Given the description of an element on the screen output the (x, y) to click on. 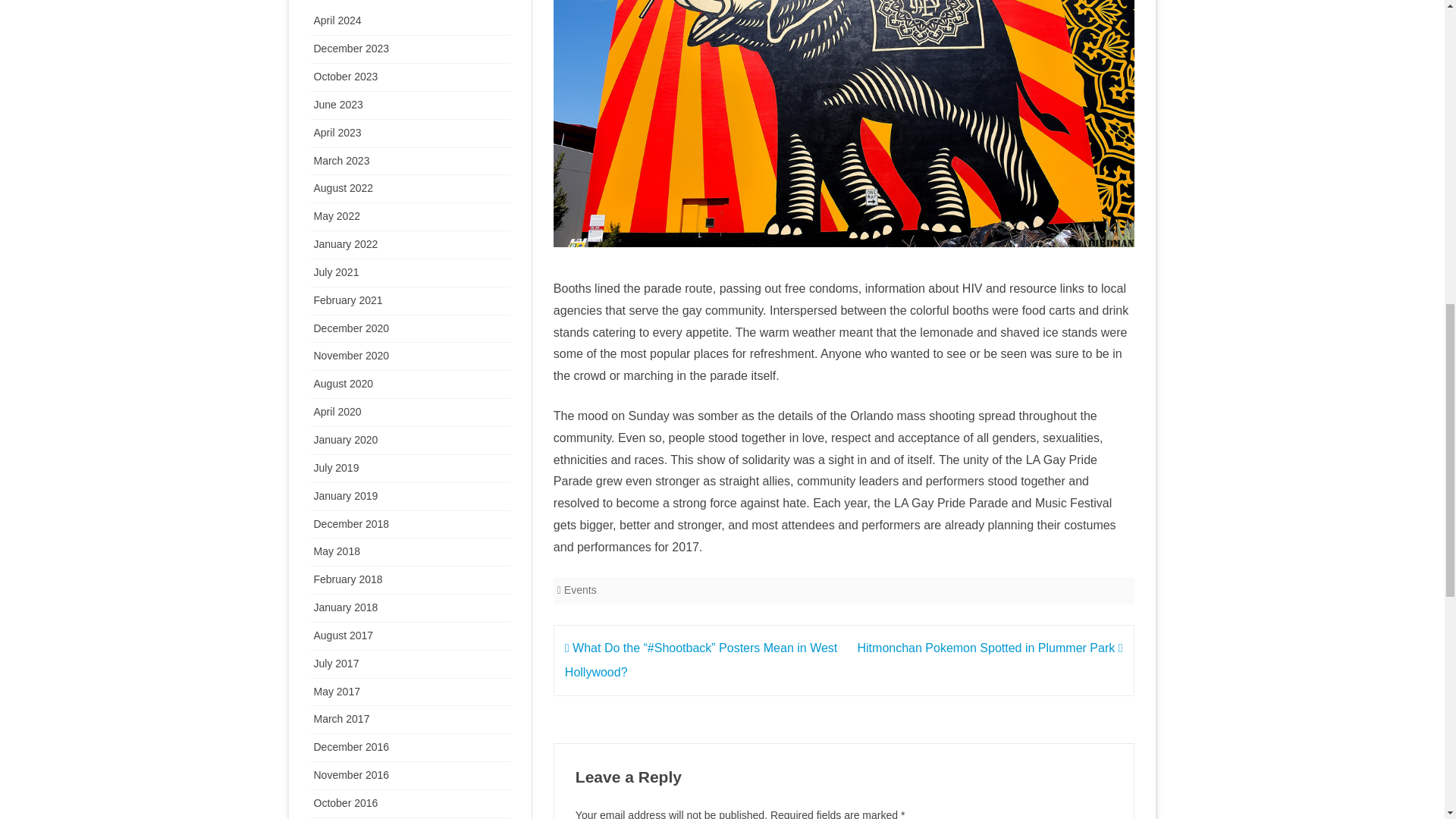
Hitmonchan Pokemon Spotted in Plummer Park (989, 647)
Events (580, 589)
